Given the description of an element on the screen output the (x, y) to click on. 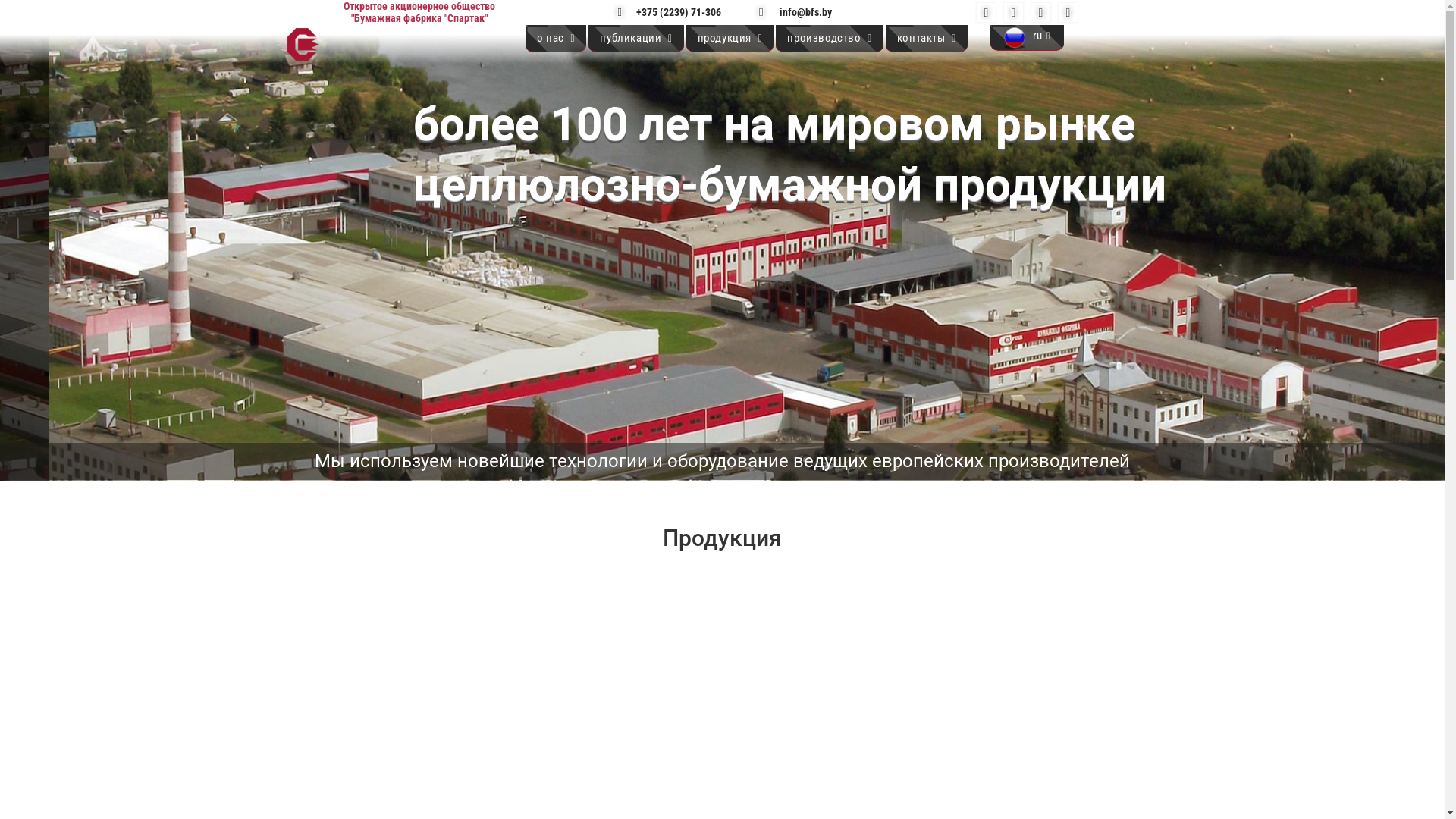
ru Element type: text (1026, 37)
+375 (2239) 71-306 Element type: text (673, 12)
info@bfs.by Element type: text (798, 12)
